Given the description of an element on the screen output the (x, y) to click on. 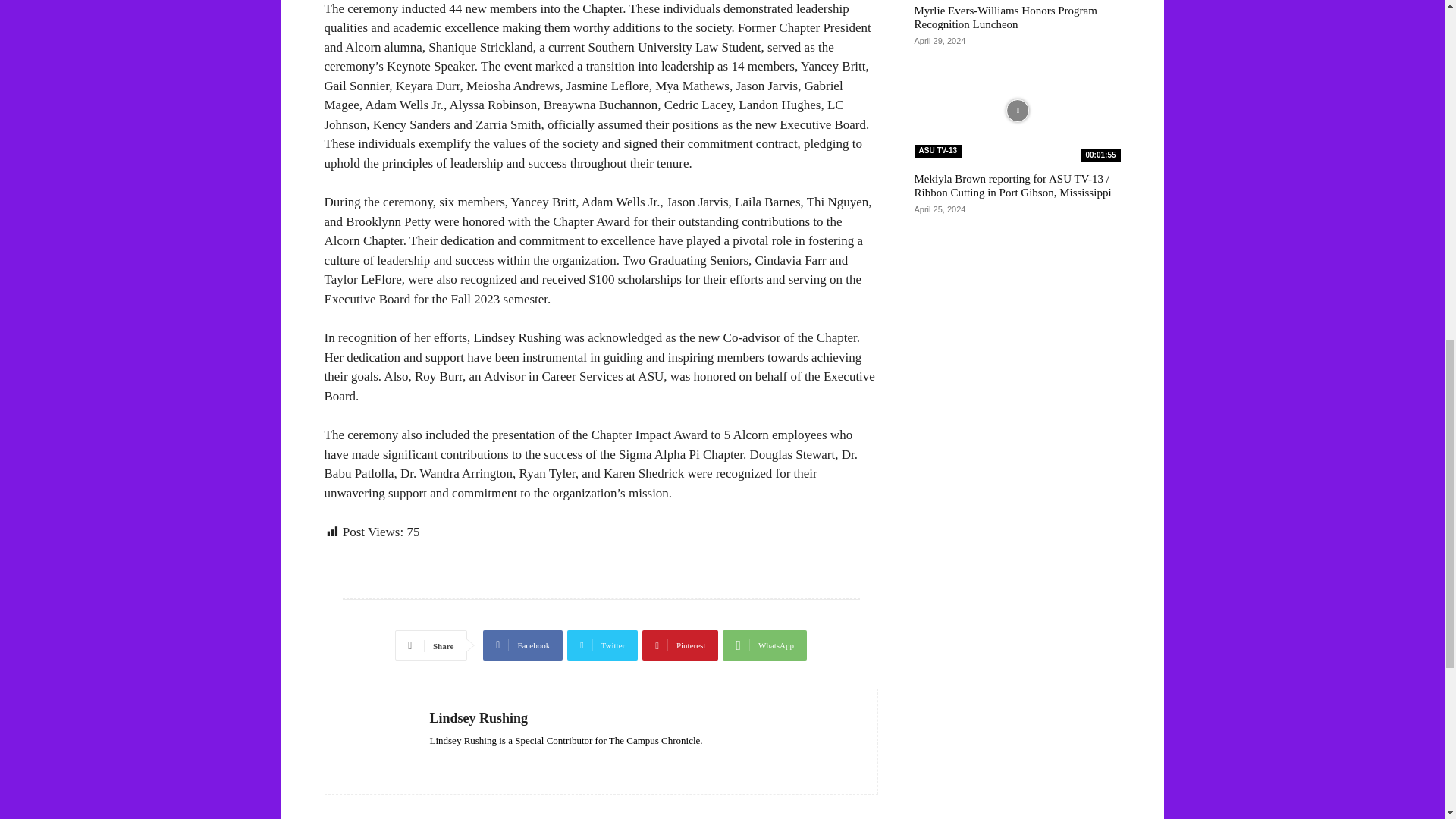
WhatsApp (764, 644)
Twitter (602, 644)
Pinterest (679, 644)
Facebook (522, 644)
